Given the description of an element on the screen output the (x, y) to click on. 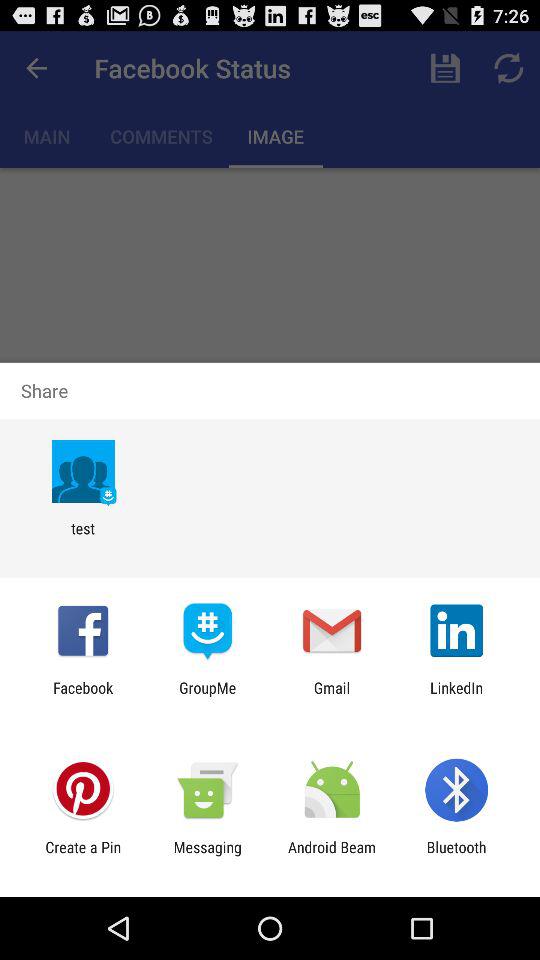
turn off icon next to android beam app (207, 856)
